Given the description of an element on the screen output the (x, y) to click on. 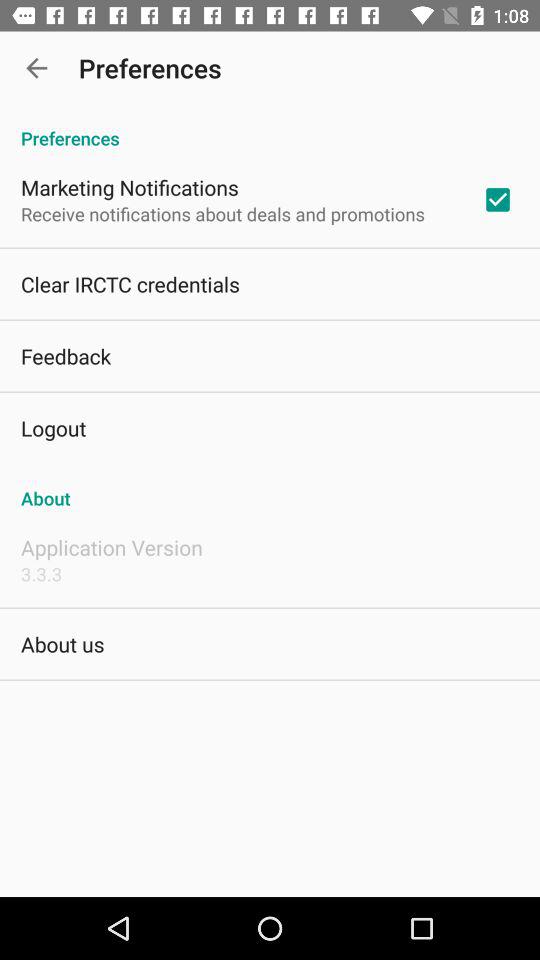
click icon to the left of the preferences icon (36, 68)
